Given the description of an element on the screen output the (x, y) to click on. 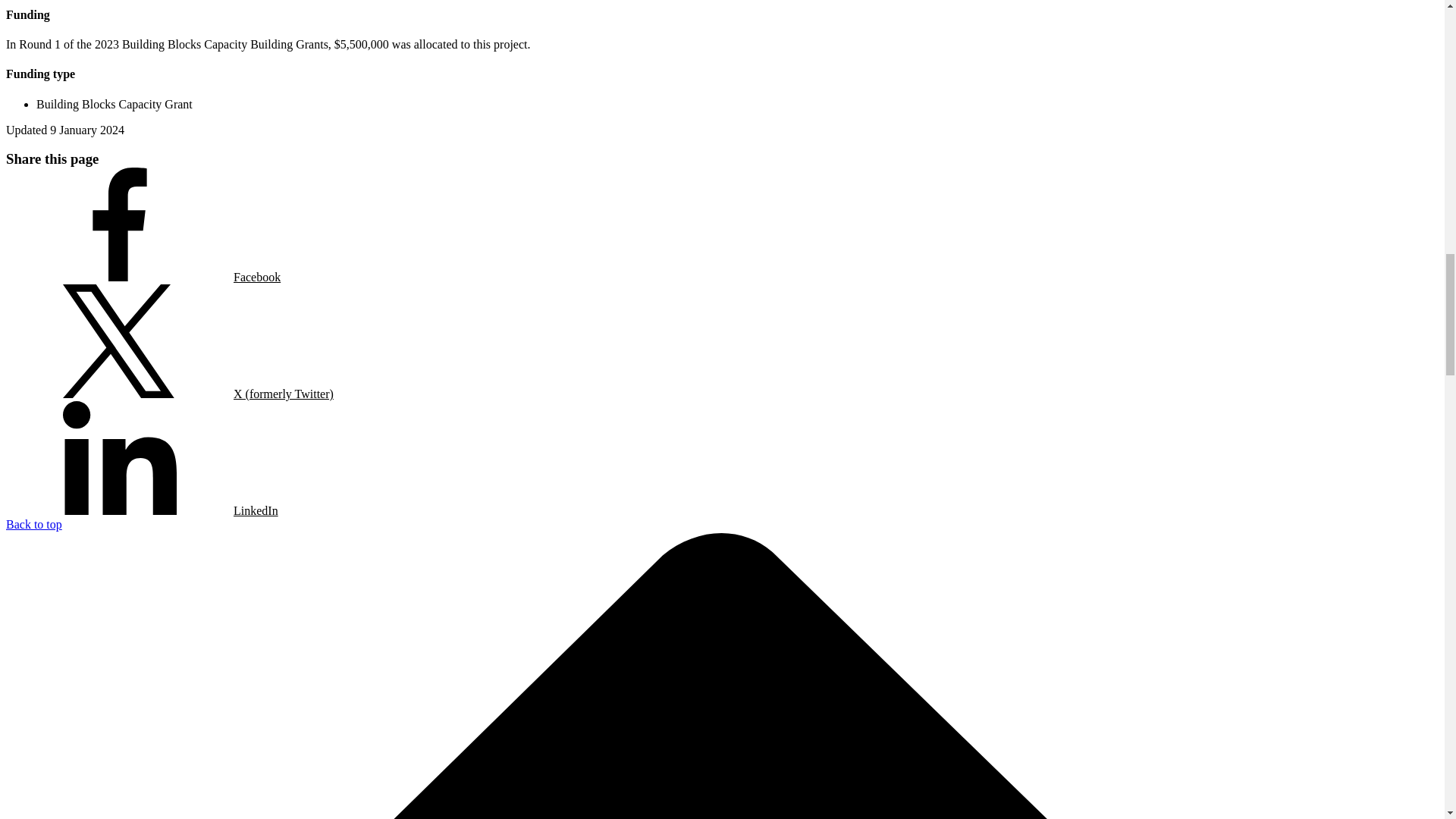
Facebook (143, 225)
LinkedIn (141, 459)
